Given the description of an element on the screen output the (x, y) to click on. 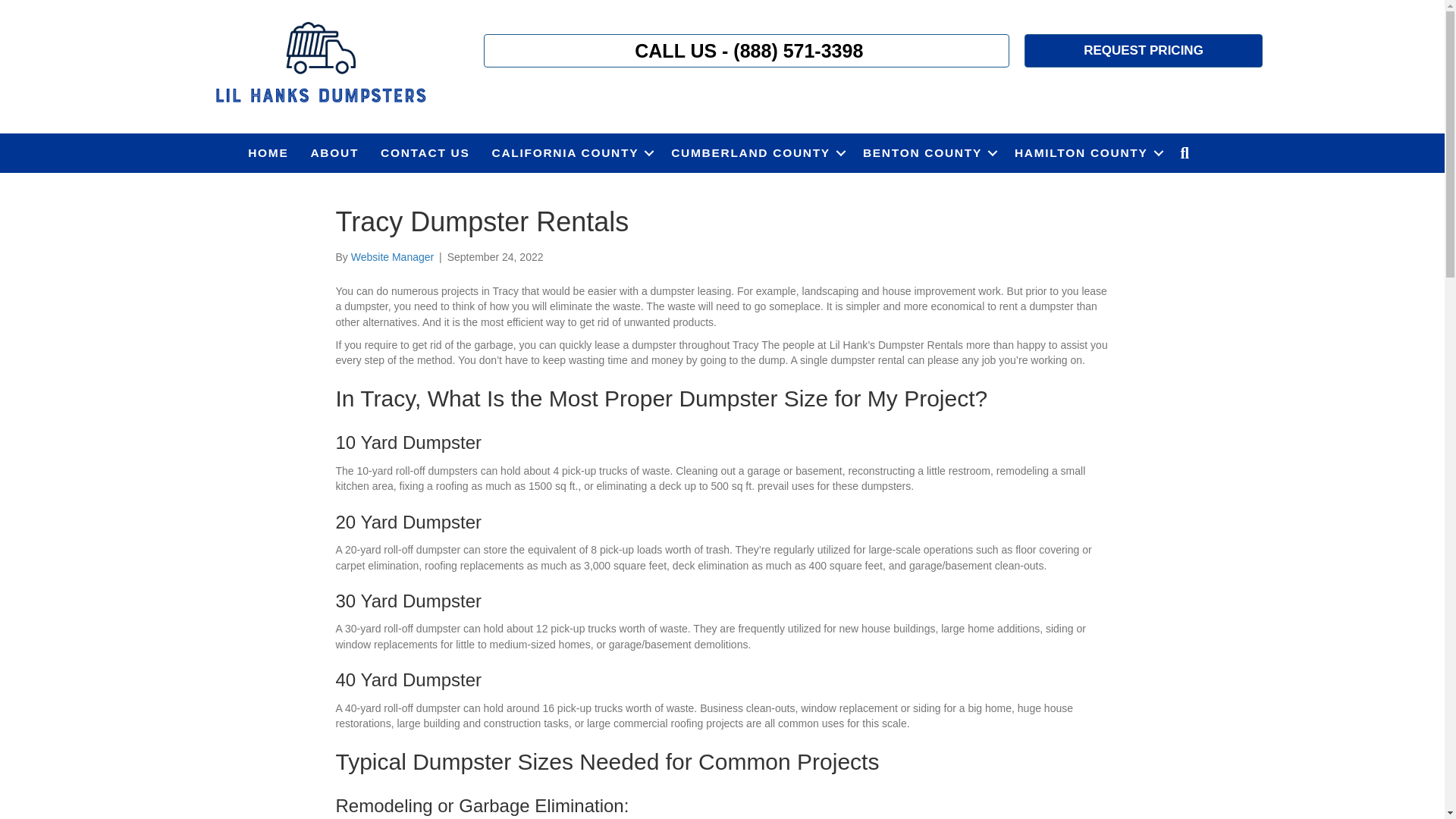
CALIFORNIA COUNTY (571, 152)
BENTON COUNTY (927, 152)
CONTACT US (424, 152)
CUMBERLAND COUNTY (756, 152)
REQUEST PRICING (1144, 50)
HAMILTON COUNTY (1086, 152)
ABOUT (334, 152)
Lil Hanks (319, 64)
HOME (267, 152)
